Given the description of an element on the screen output the (x, y) to click on. 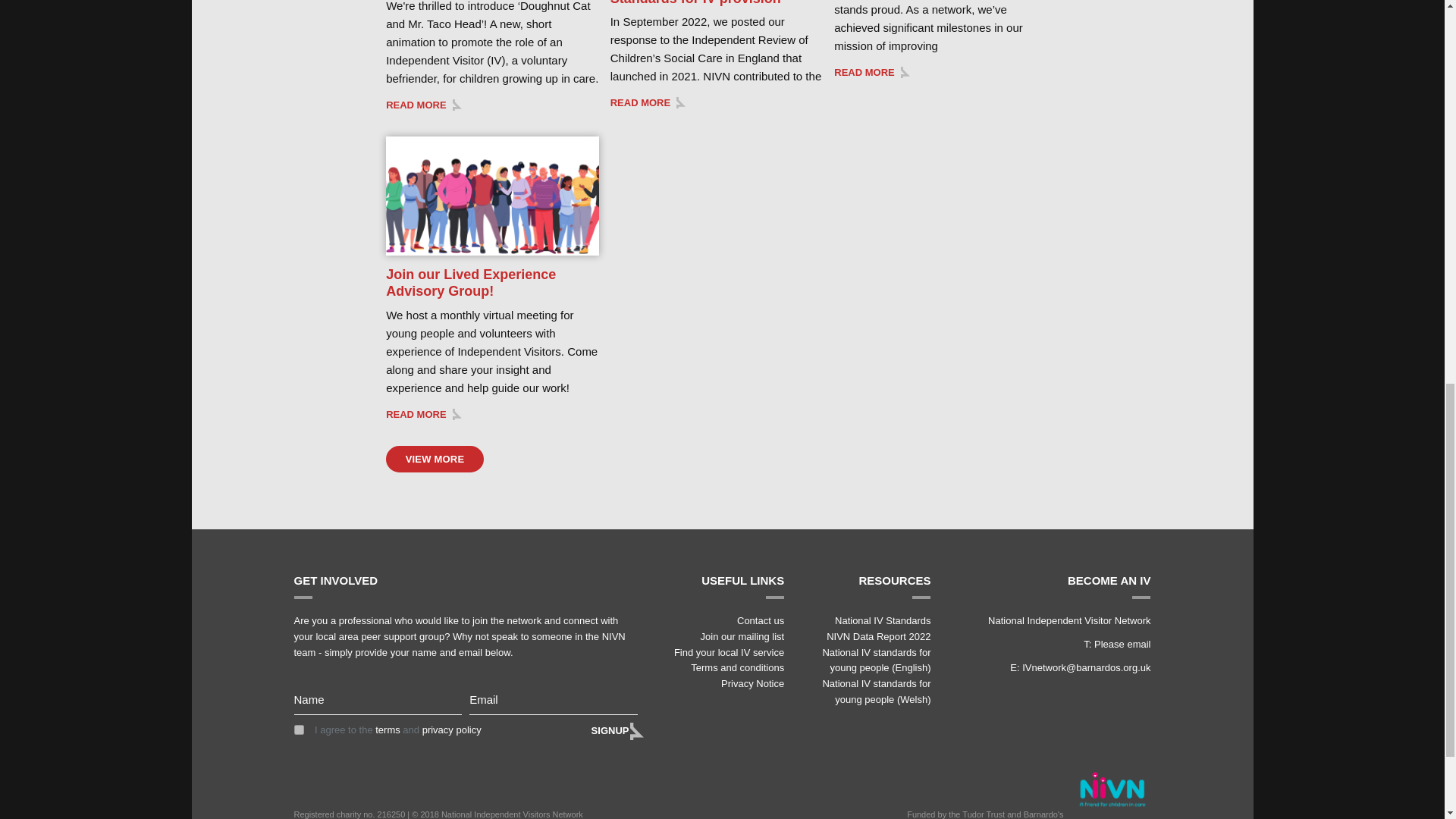
yes (299, 729)
VIEW MORE (434, 459)
READ MORE (871, 71)
READ MORE (423, 414)
READ MORE (423, 104)
Join our Lived Experience Advisory Group! (470, 282)
READ MORE (647, 102)
